Given the description of an element on the screen output the (x, y) to click on. 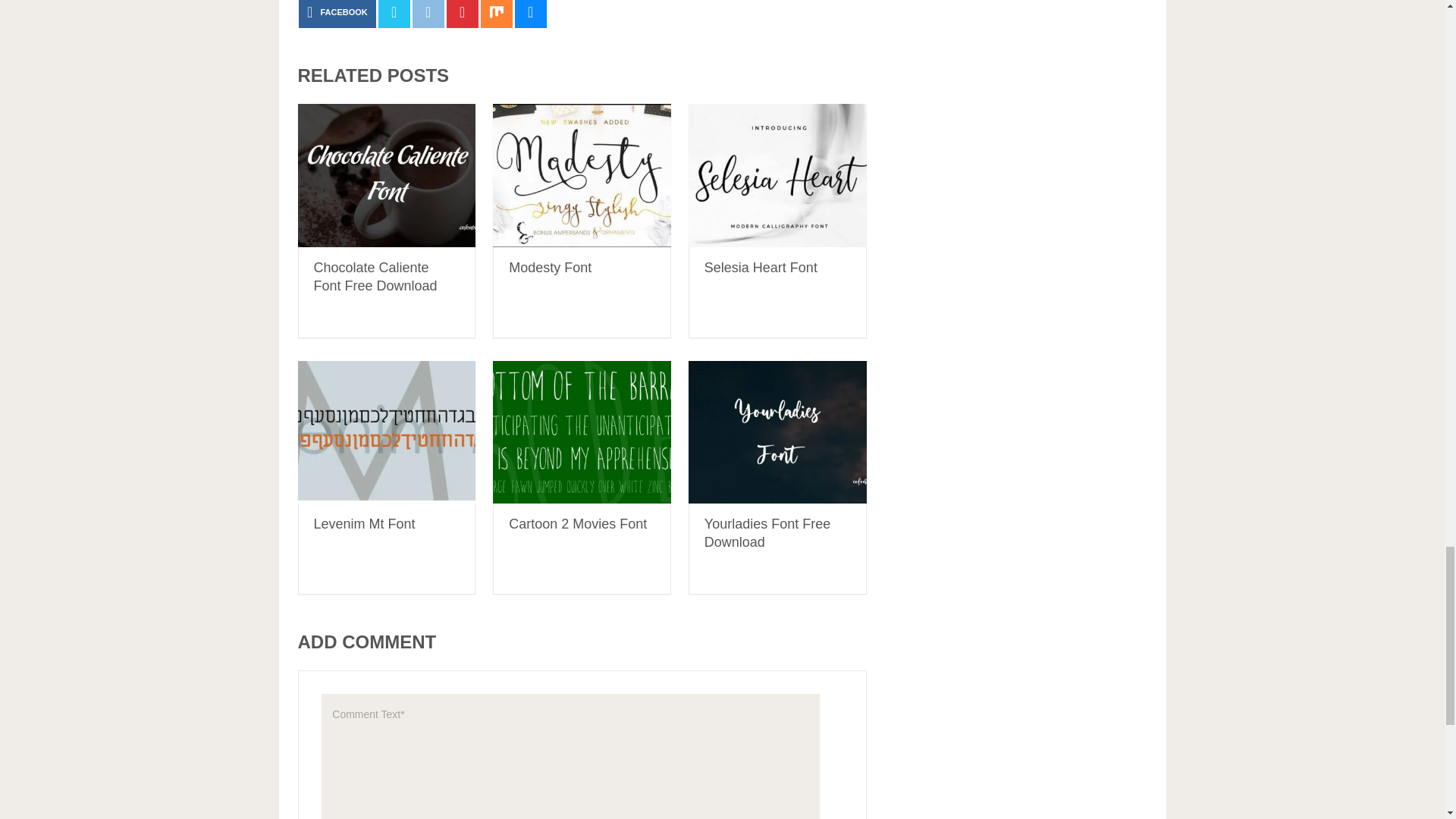
Modesty Font (549, 267)
Chocolate Caliente Font Free Download (376, 276)
Cartoon 2 Movies Font (582, 432)
Levenim Mt Font (364, 523)
Chocolate Caliente Font Free Download (376, 276)
Selesia Heart Font (777, 175)
FACEBOOK (336, 13)
Selesia Heart Font (760, 267)
Levenim Mt Font (364, 523)
Yourladies Font Free Download (766, 532)
Cartoon 2 Movies Font (577, 523)
Modesty Font (549, 267)
Selesia Heart Font (760, 267)
Levenim Mt Font (386, 432)
Chocolate Caliente Font Free Download (386, 175)
